Given the description of an element on the screen output the (x, y) to click on. 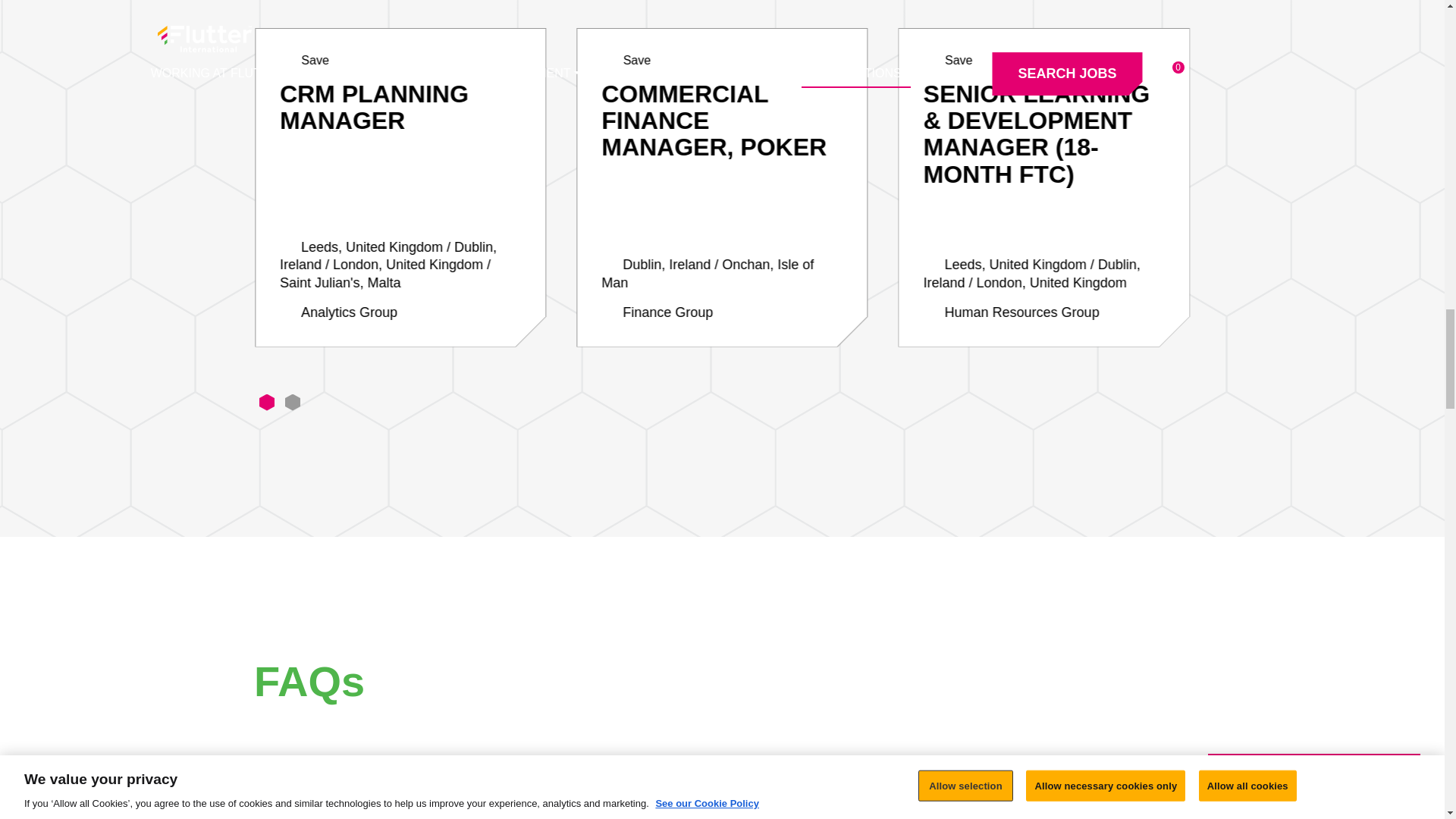
Save (304, 60)
Save (625, 60)
Save (947, 60)
